Given the description of an element on the screen output the (x, y) to click on. 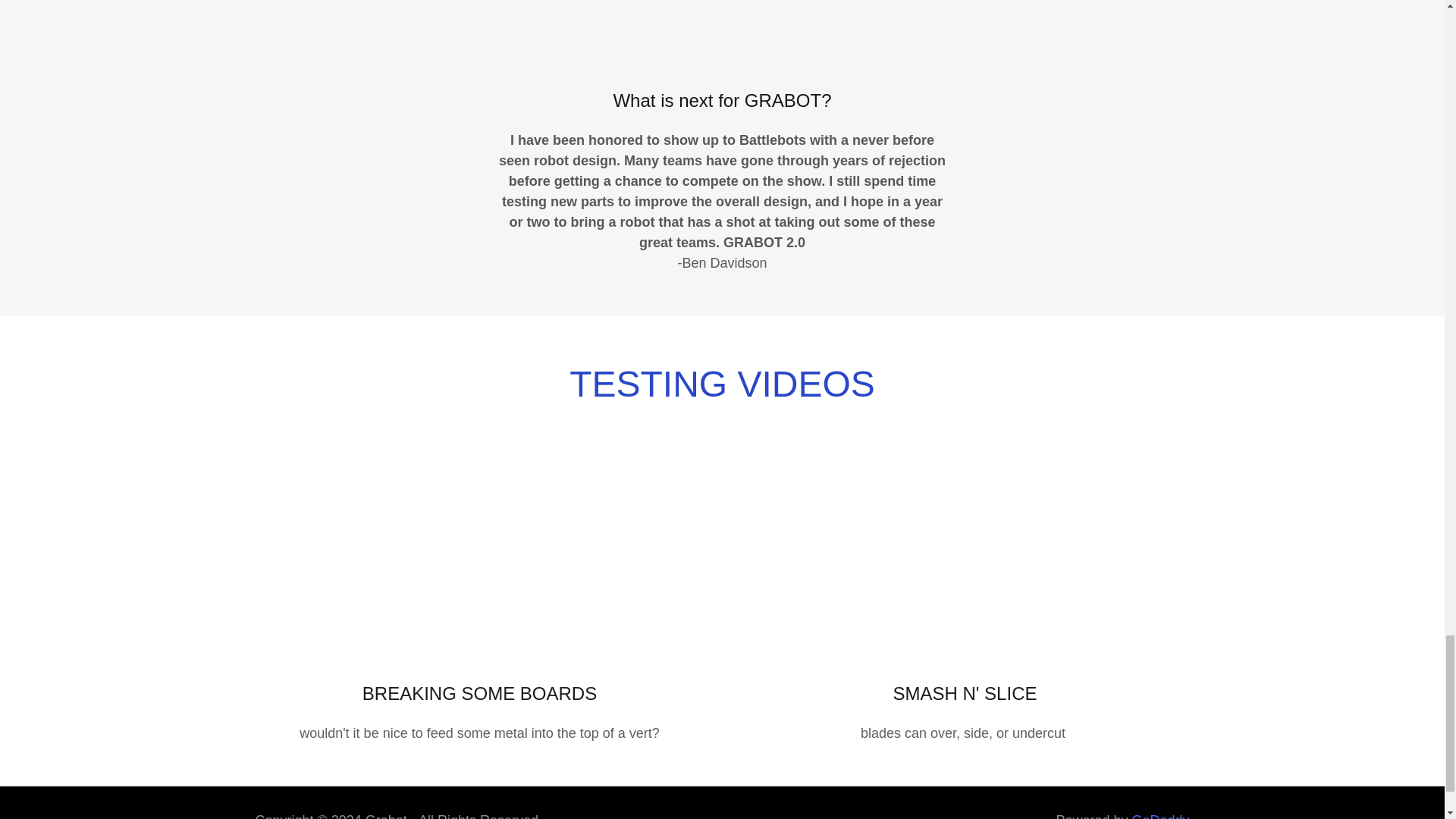
GoDaddy (1160, 816)
